Given the description of an element on the screen output the (x, y) to click on. 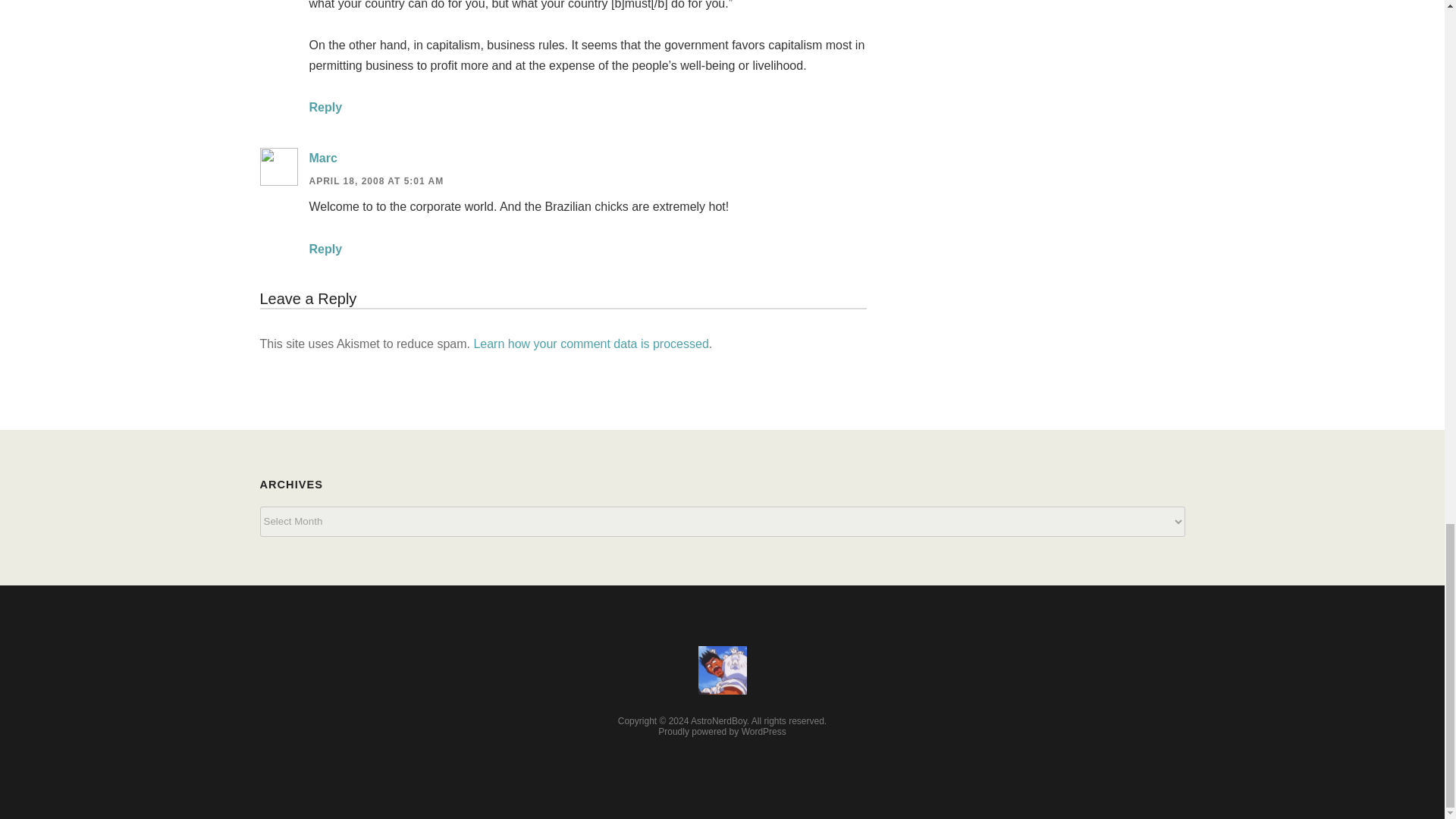
Reply (325, 106)
Marc (322, 157)
Reply (325, 248)
APRIL 18, 2008 AT 5:01 AM (376, 181)
Learn how your comment data is processed (590, 343)
